Given the description of an element on the screen output the (x, y) to click on. 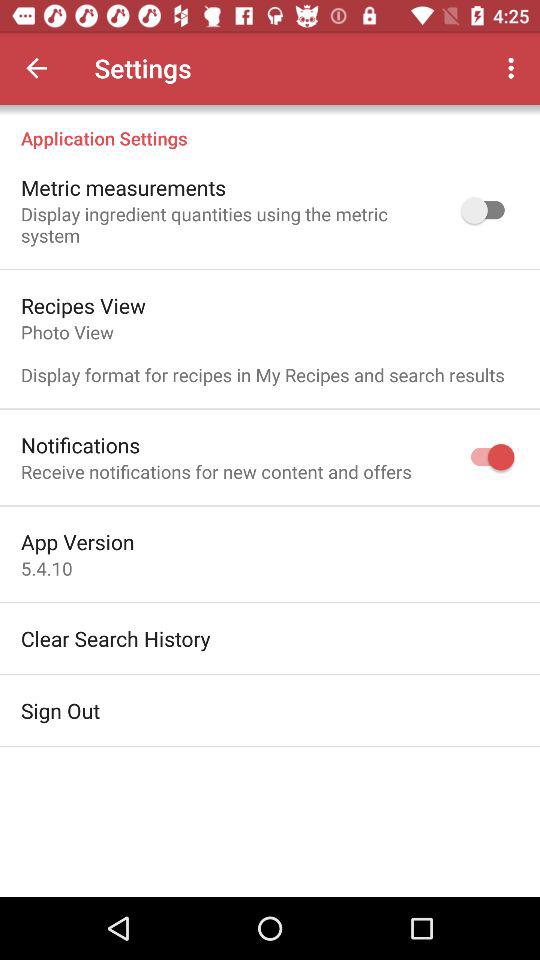
go previous page (36, 68)
